Given the description of an element on the screen output the (x, y) to click on. 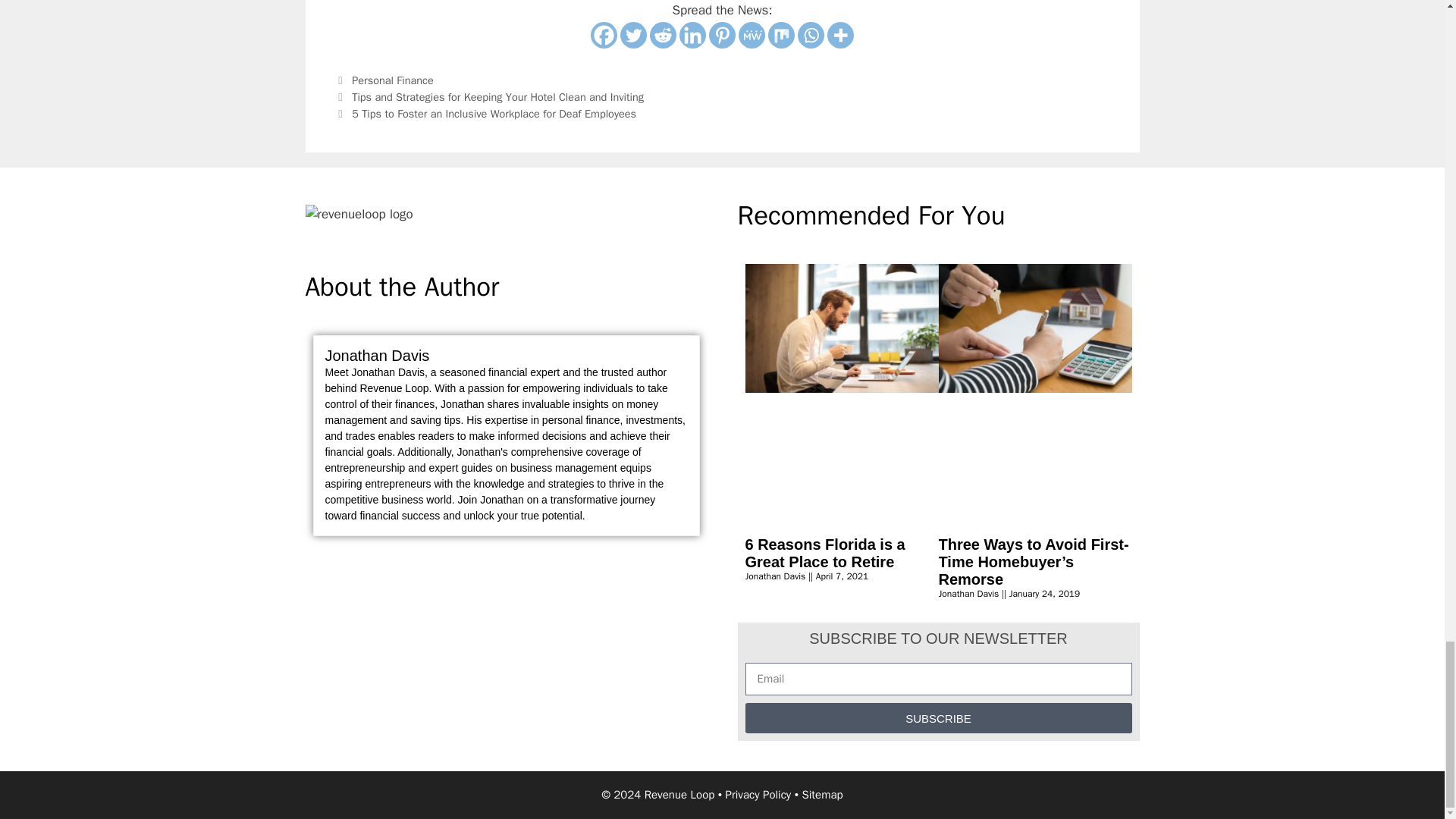
Mix (781, 35)
5 Tips to Foster an Inclusive Workplace for Deaf Employees (494, 113)
Privacy Policy (758, 794)
Sitemap (822, 794)
More (840, 35)
Pinterest (722, 35)
Reddit (663, 35)
Whatsapp (810, 35)
Twitter (633, 35)
6 Reasons Florida is a Great Place to Retire (824, 553)
SUBSCRIBE (937, 717)
Personal Finance (392, 79)
Facebook (604, 35)
Linkedin (692, 35)
